Given the description of an element on the screen output the (x, y) to click on. 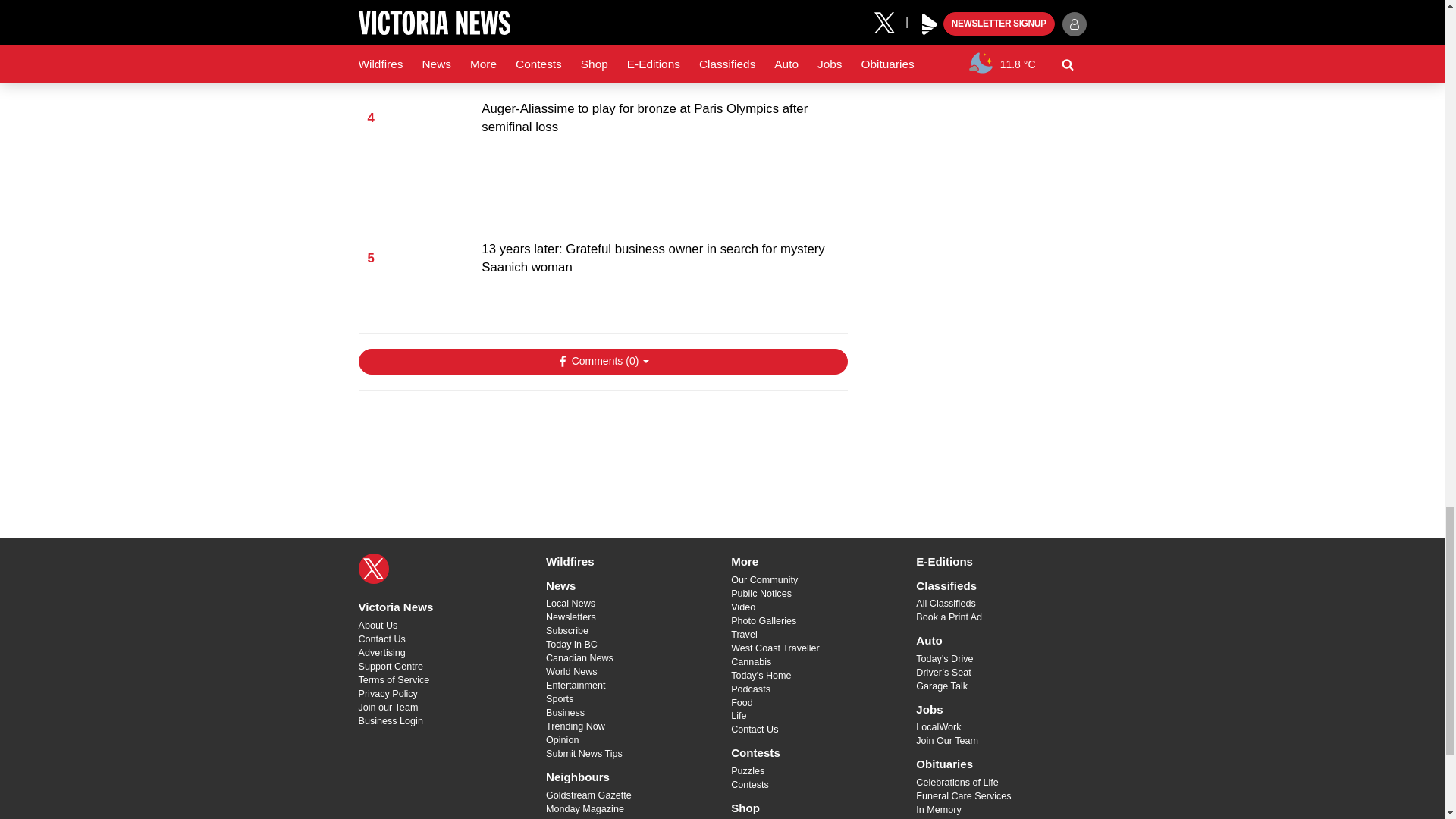
Show Comments (602, 361)
X (373, 568)
